Given the description of an element on the screen output the (x, y) to click on. 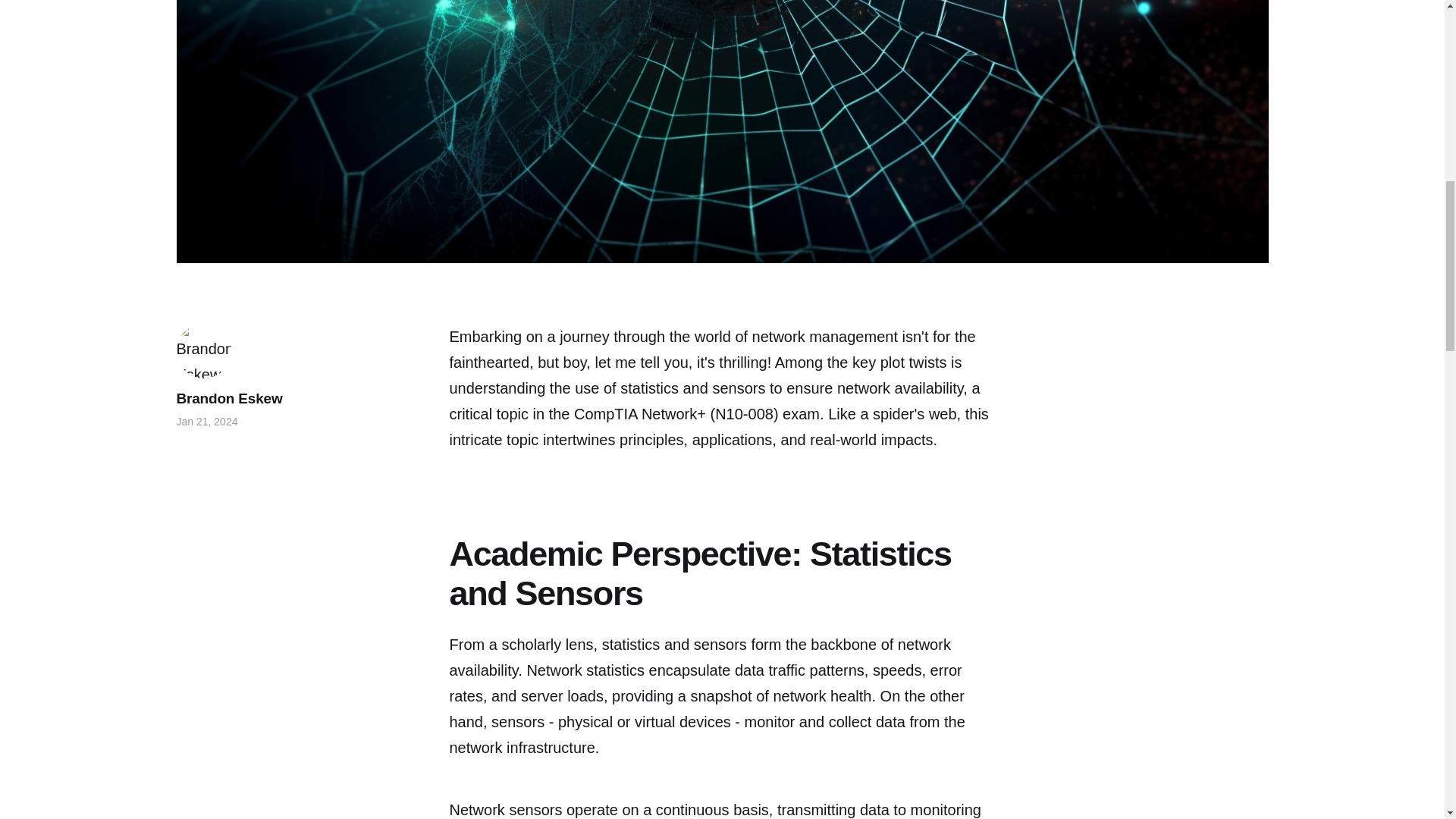
Brandon Eskew (229, 398)
